Given the description of an element on the screen output the (x, y) to click on. 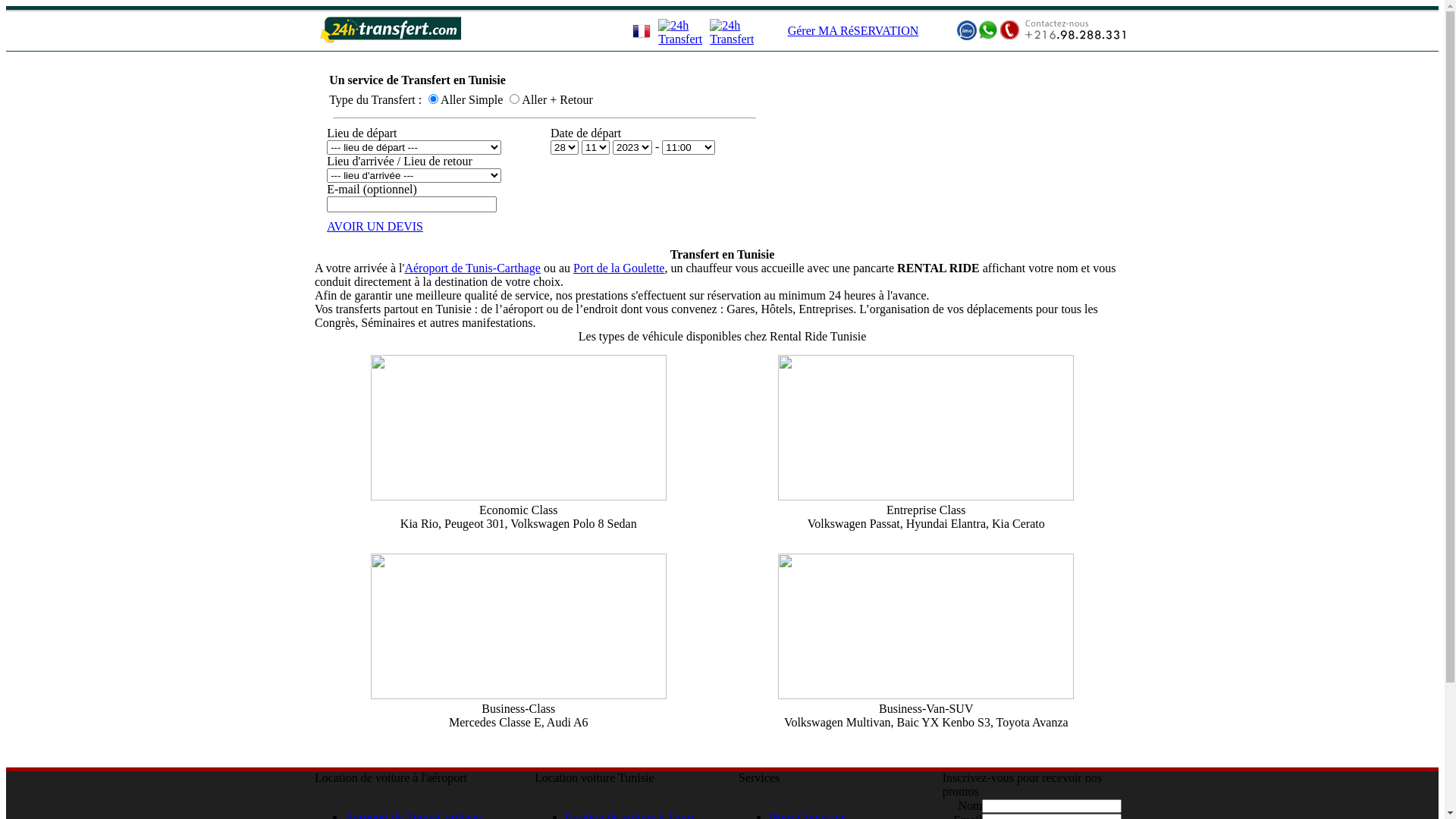
TAR Element type: text (514, 98)
24h Transfert Element type: hover (680, 32)
24h transfert Element type: hover (1041, 29)
AVOIR UN DEVIS Element type: text (374, 225)
24h Transfert Element type: hover (390, 29)
24h Transfert Element type: hover (641, 30)
Port de la Goulette Element type: text (618, 267)
TS Element type: text (433, 98)
24h Transfert Element type: hover (731, 32)
